Given the description of an element on the screen output the (x, y) to click on. 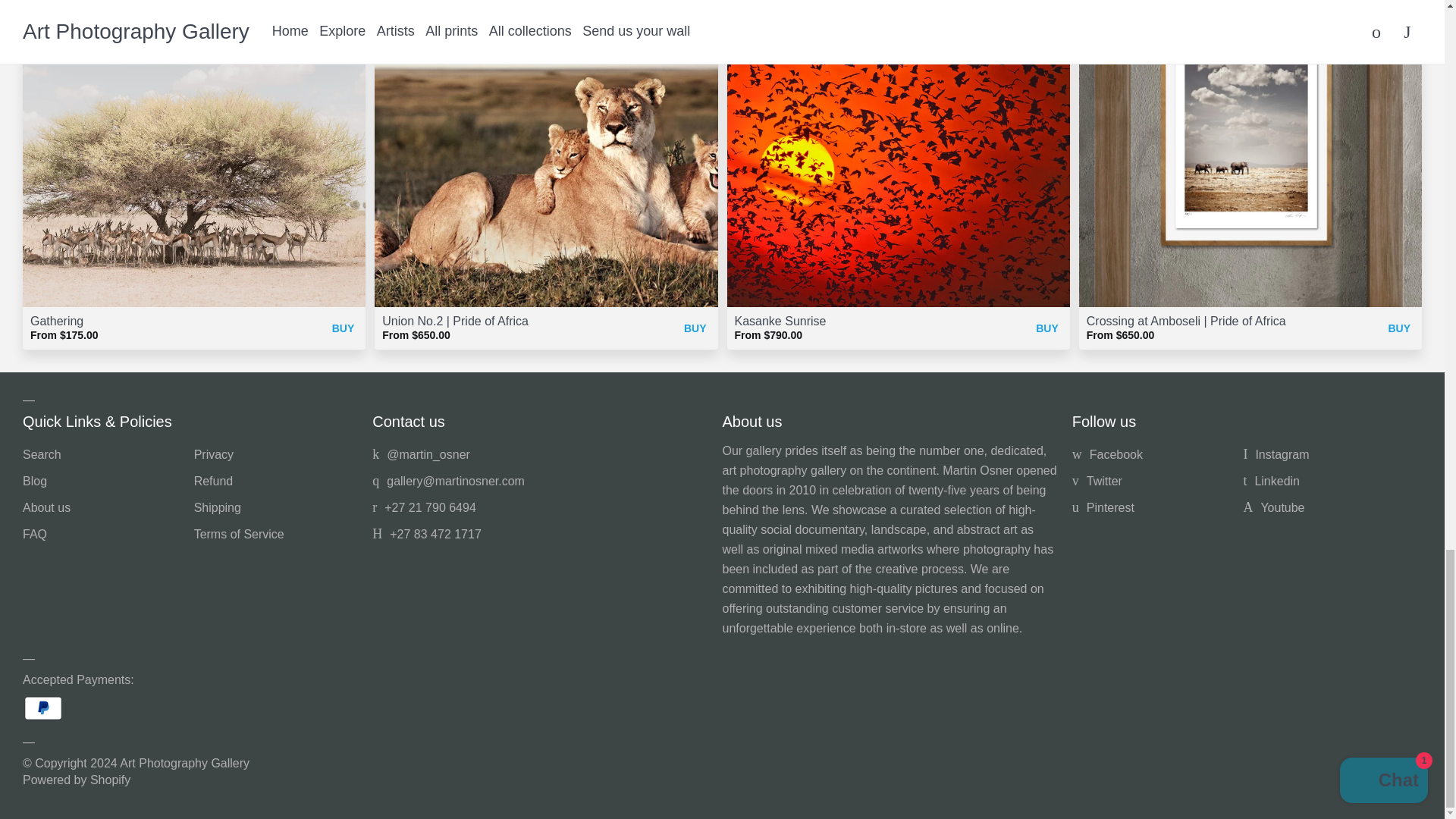
Art Photography Gallery on Linkedin (1271, 481)
Art Photography Gallery on Twitter (421, 454)
Art Photography Gallery on Youtube (1273, 507)
Art Photography Gallery on Instagram (1275, 454)
Art Photography Gallery on Pinterest (1102, 507)
Art Photography Gallery on Facebook (1106, 454)
Art Photography Gallery on Twitter (1096, 481)
